Given the description of an element on the screen output the (x, y) to click on. 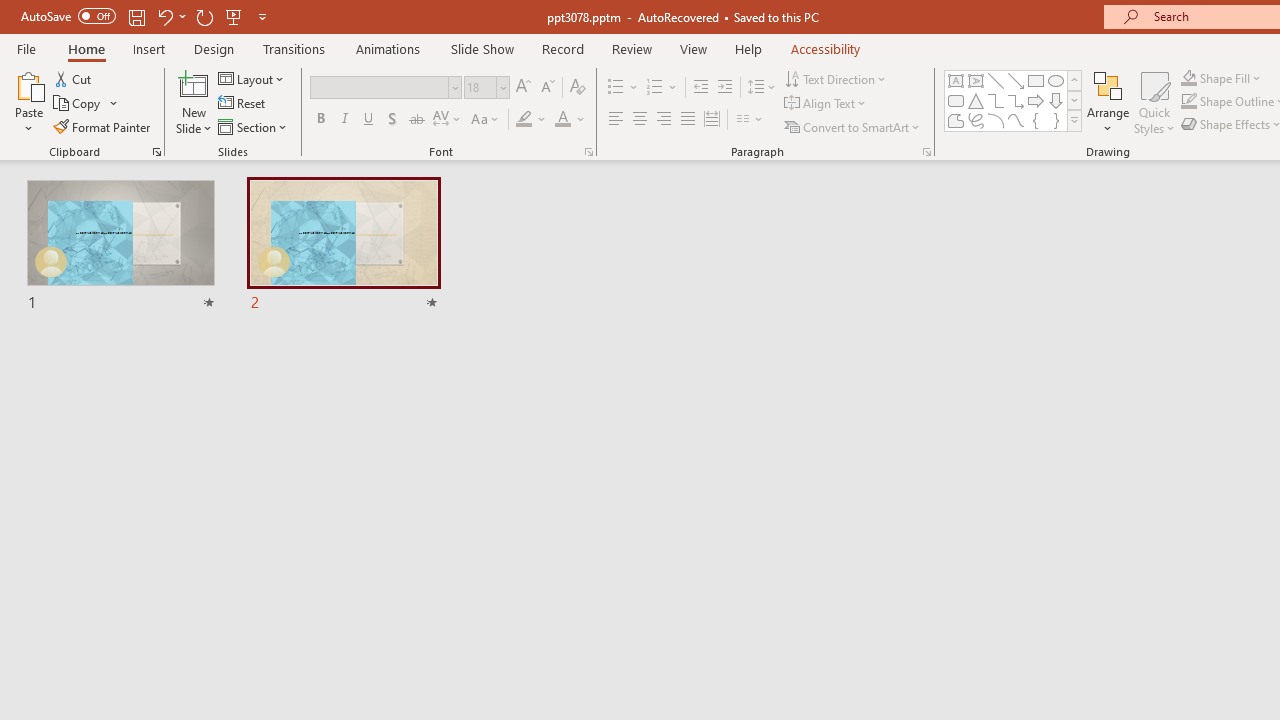
Help (748, 48)
Bold (320, 119)
Font Color Red (562, 119)
Paragraph... (926, 151)
Row Down (1074, 100)
Font (385, 87)
System (10, 11)
Text Highlight Color (531, 119)
Text Highlight Color Yellow (524, 119)
Arrow: Right (1035, 100)
Font Size (480, 87)
Vertical Text Box (975, 80)
